Given the description of an element on the screen output the (x, y) to click on. 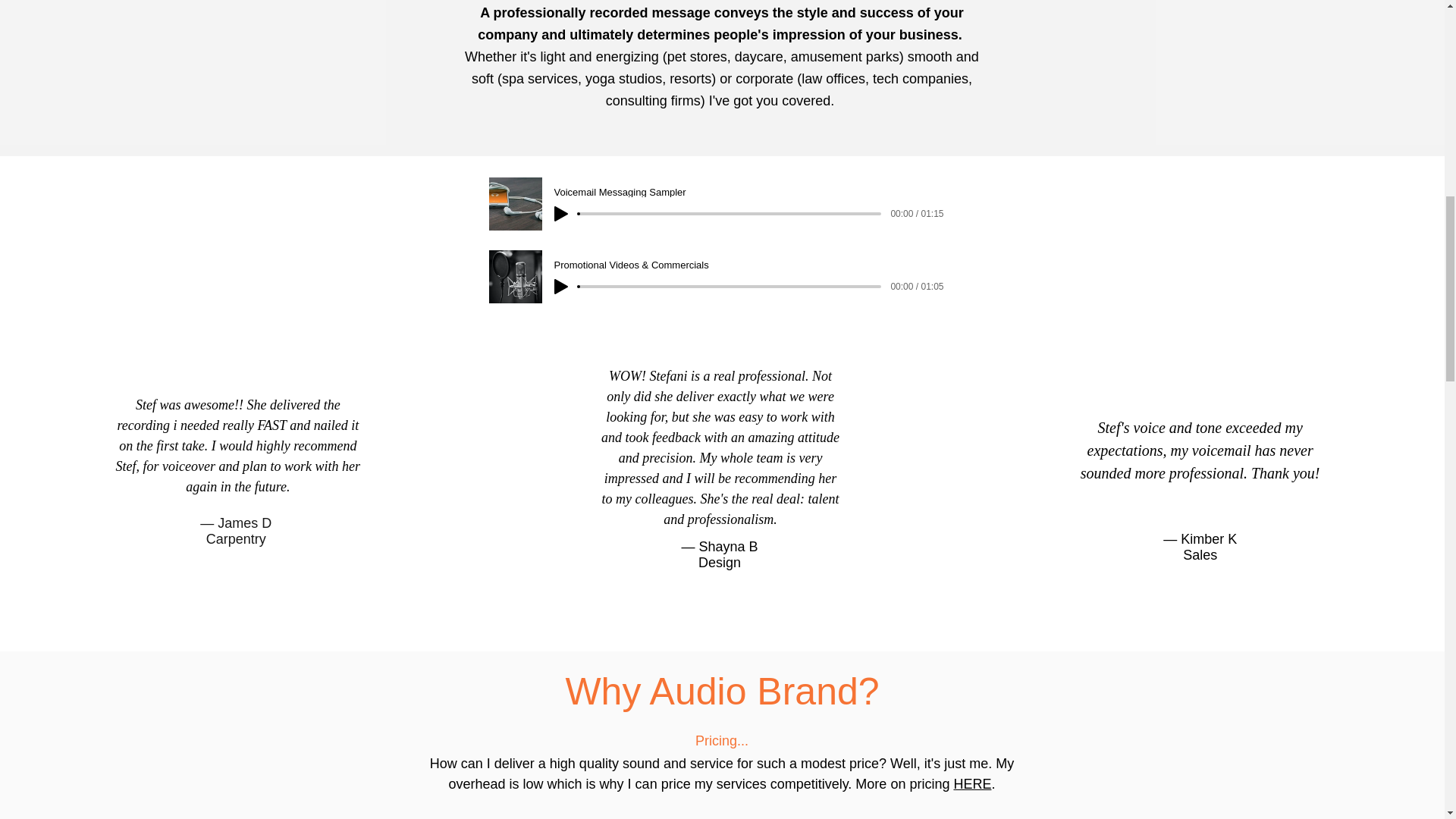
HERE (972, 783)
 message (678, 12)
0 (729, 286)
0 (729, 213)
